Given the description of an element on the screen output the (x, y) to click on. 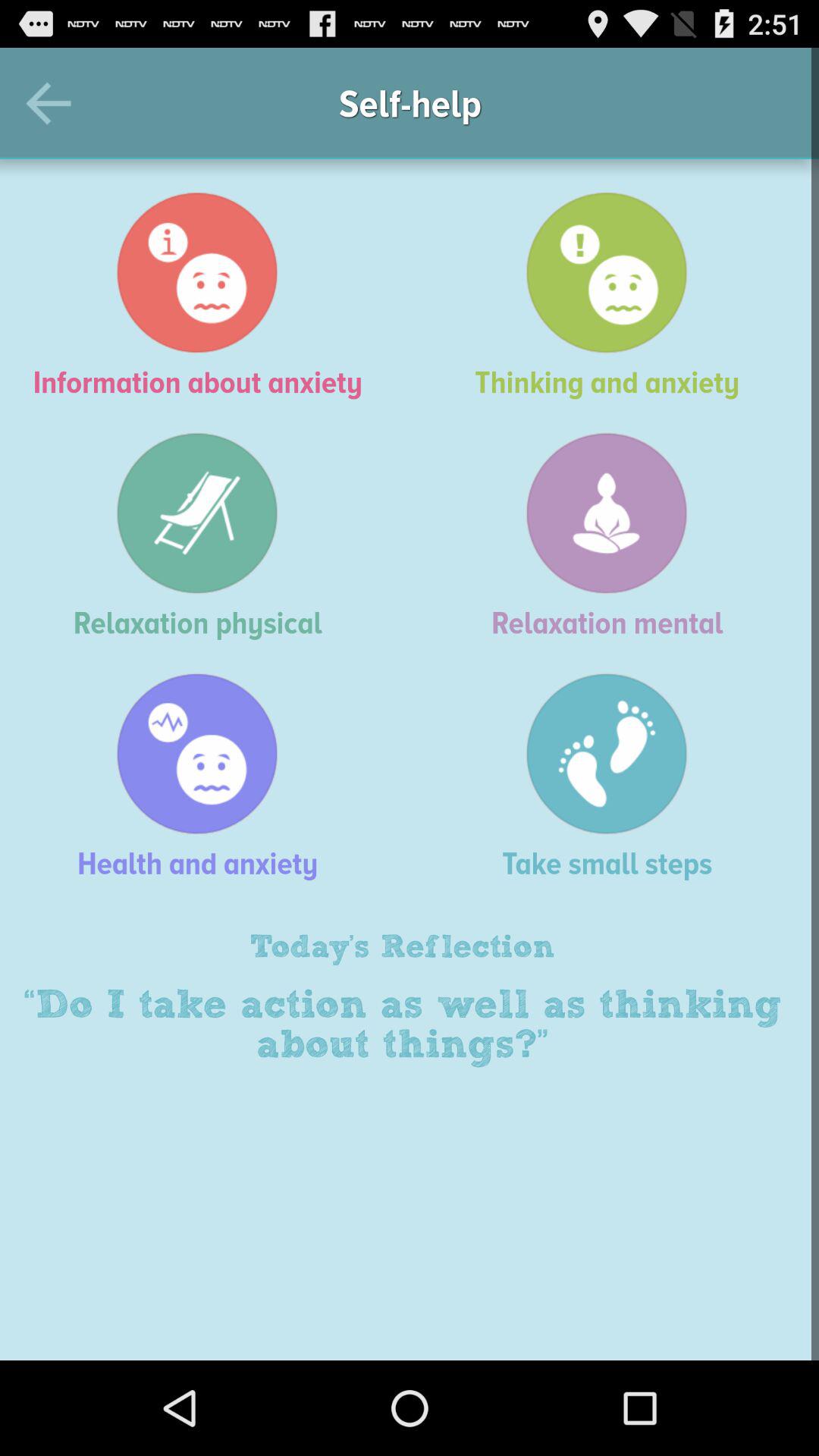
press the icon above the information about anxiety item (55, 103)
